Given the description of an element on the screen output the (x, y) to click on. 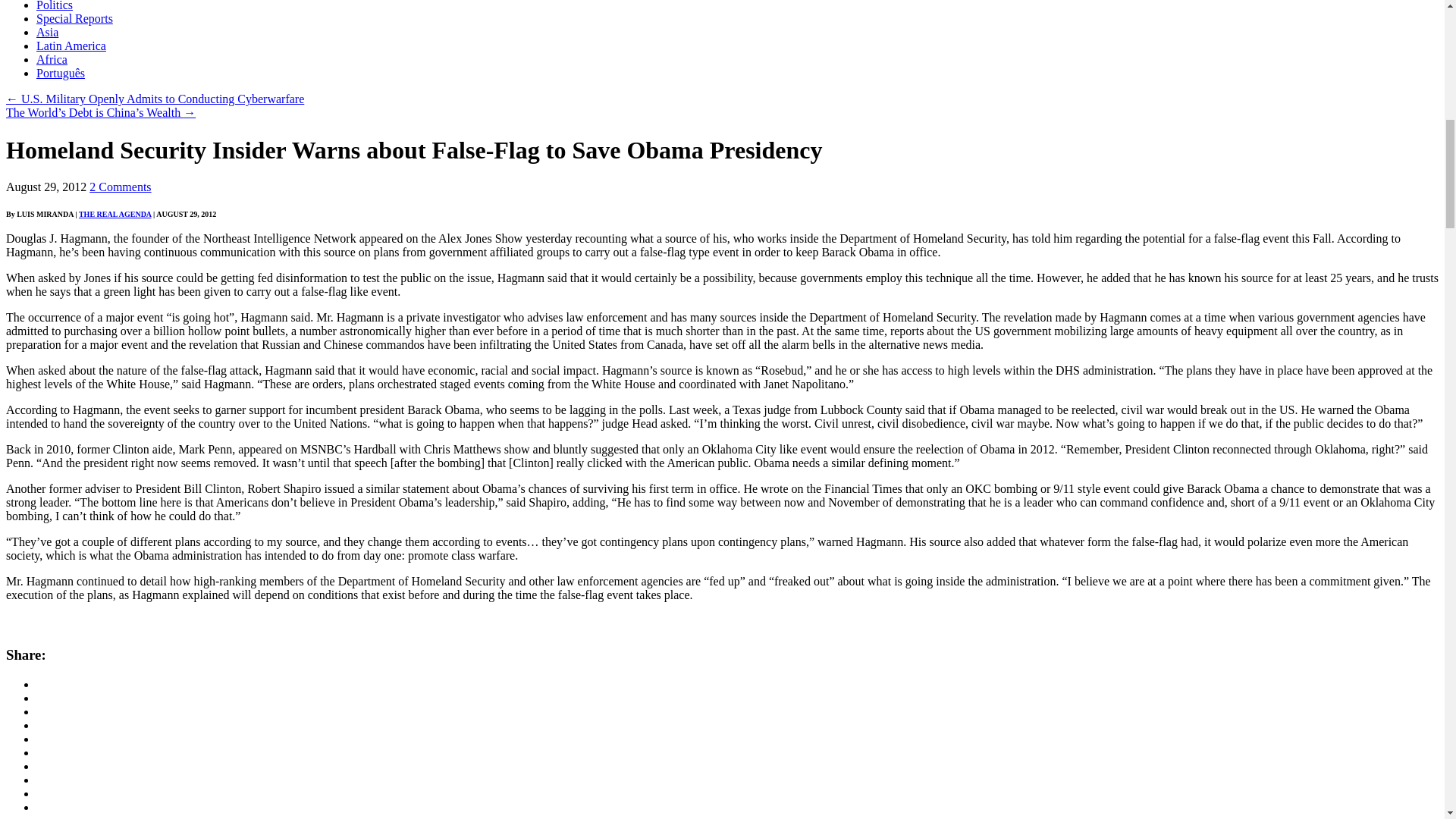
View all posts filed under Special Reports (74, 18)
View all posts filed under Politics (54, 5)
